Given the description of an element on the screen output the (x, y) to click on. 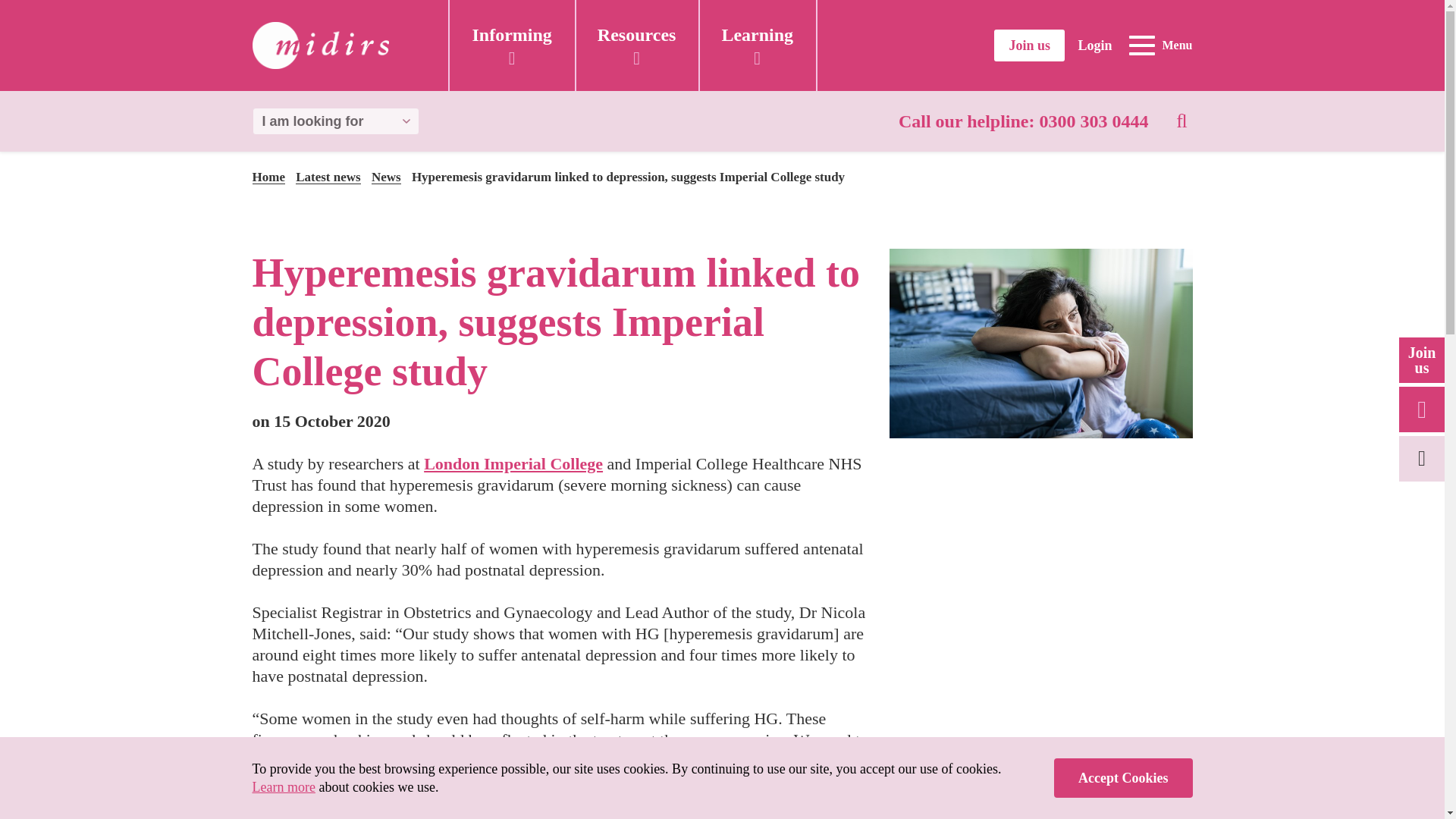
Resources (636, 45)
Informing (510, 45)
Privacy Policy (282, 786)
Learning (756, 45)
Resources (636, 45)
Learning (756, 45)
Informing (510, 45)
